Given the description of an element on the screen output the (x, y) to click on. 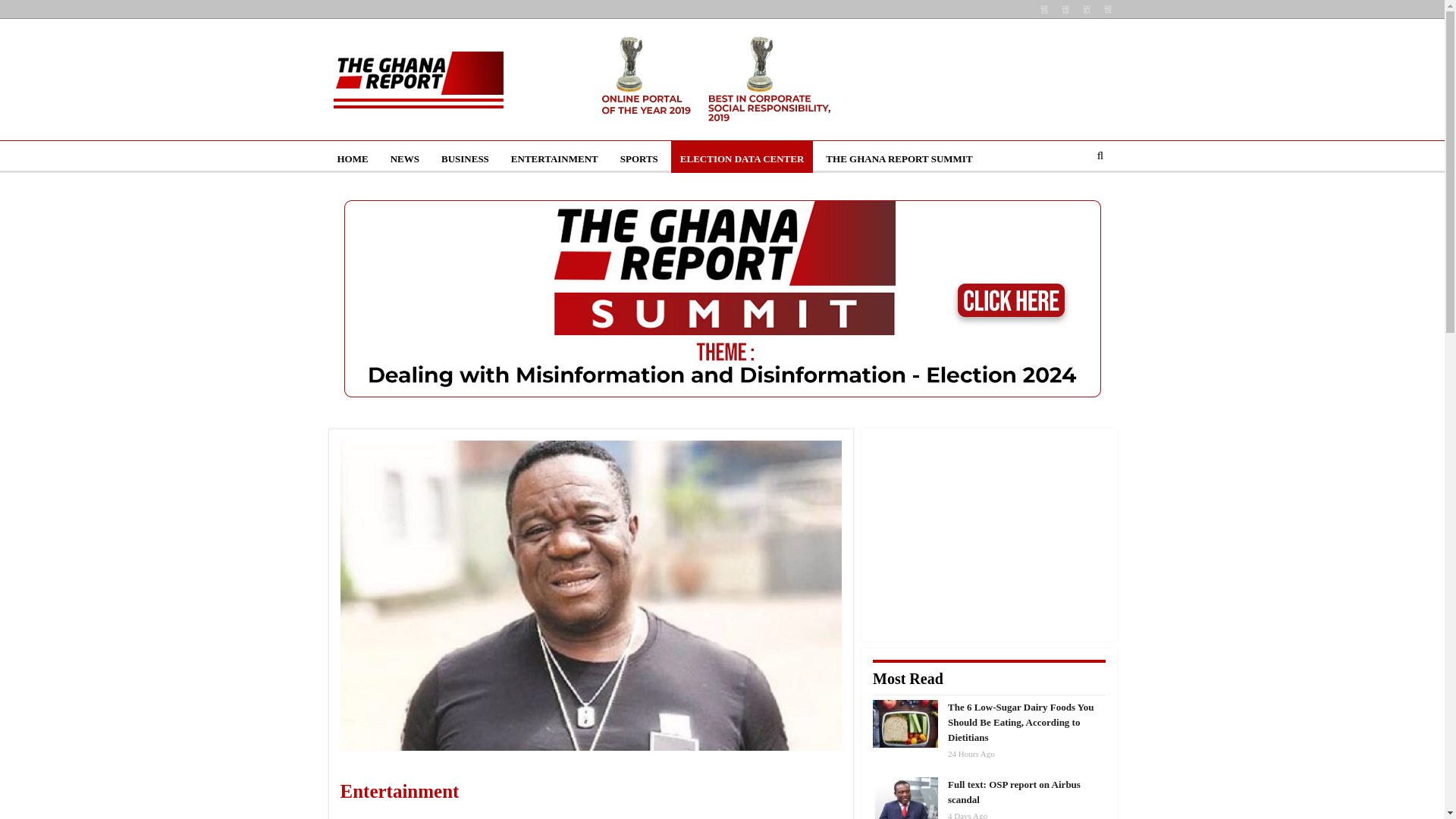
NEWS (404, 158)
Entertainment (453, 791)
BUSINESS (464, 158)
ENTERTAINMENT (554, 158)
THE GHANA REPORT SUMMIT (898, 158)
ELECTION DATA CENTER (742, 158)
HOME (352, 158)
SPORTS (638, 158)
